Given the description of an element on the screen output the (x, y) to click on. 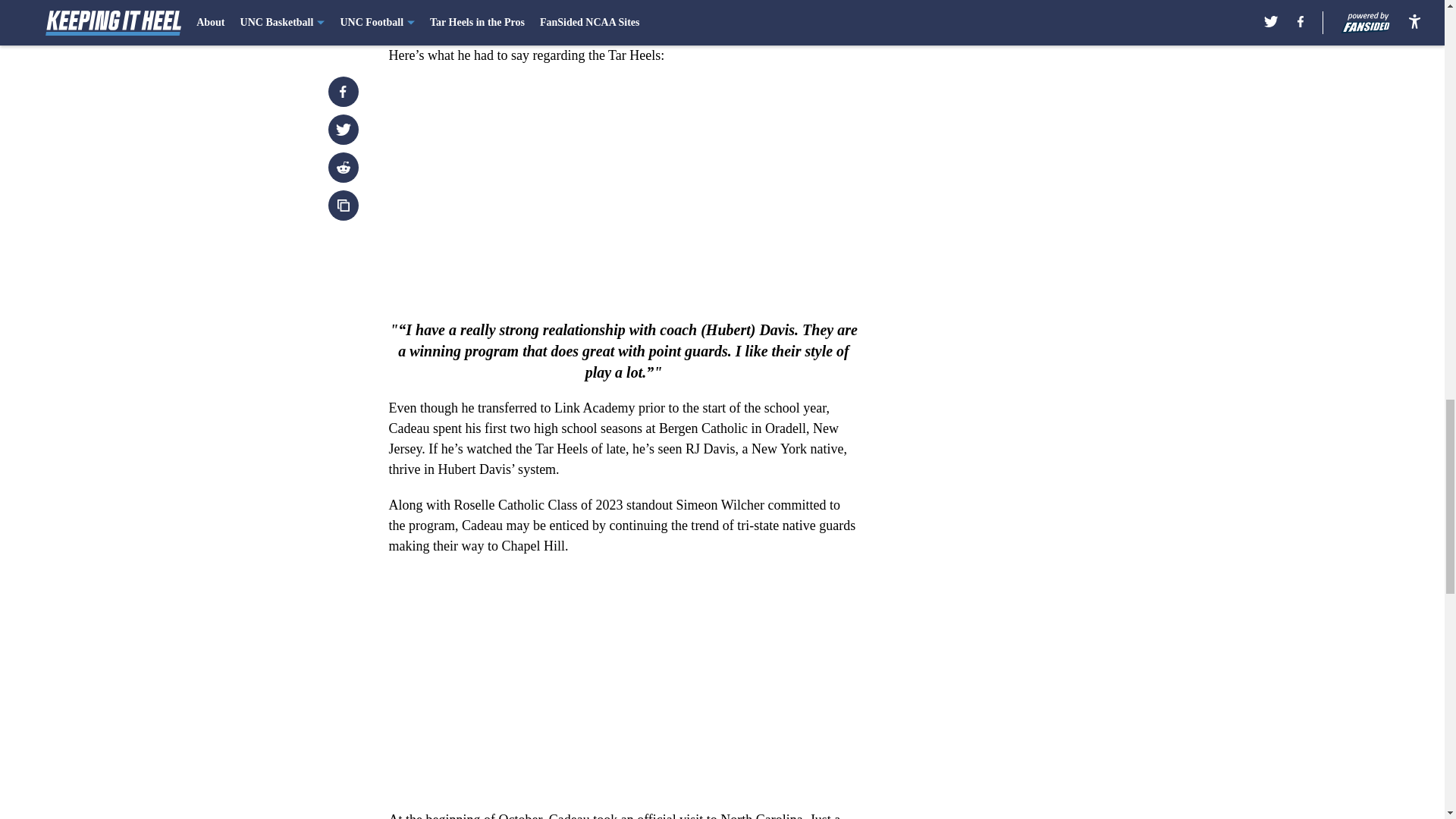
Joe Tipton of On3 (551, 34)
